Given the description of an element on the screen output the (x, y) to click on. 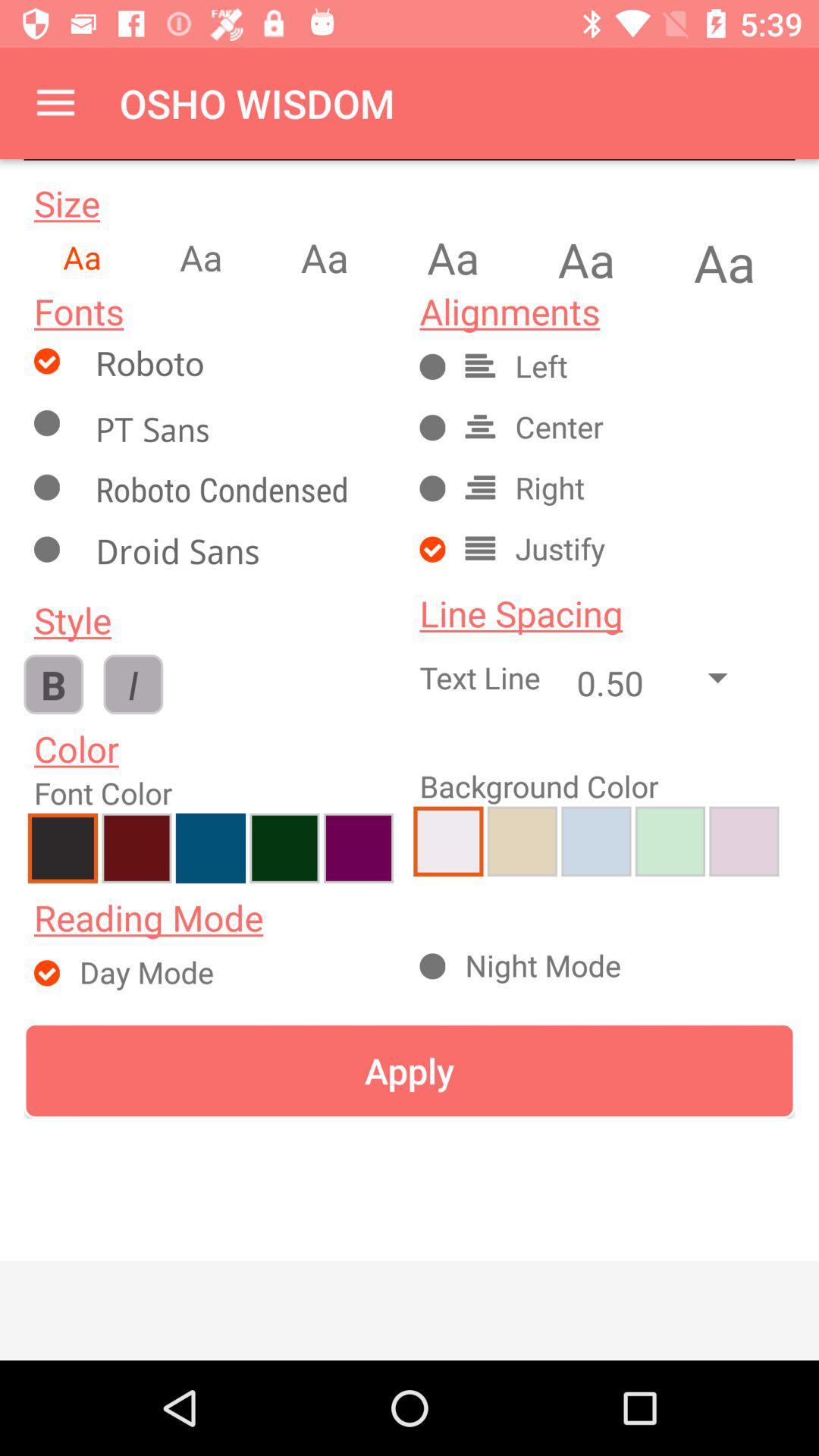
toggle droid sans font (239, 554)
